Given the description of an element on the screen output the (x, y) to click on. 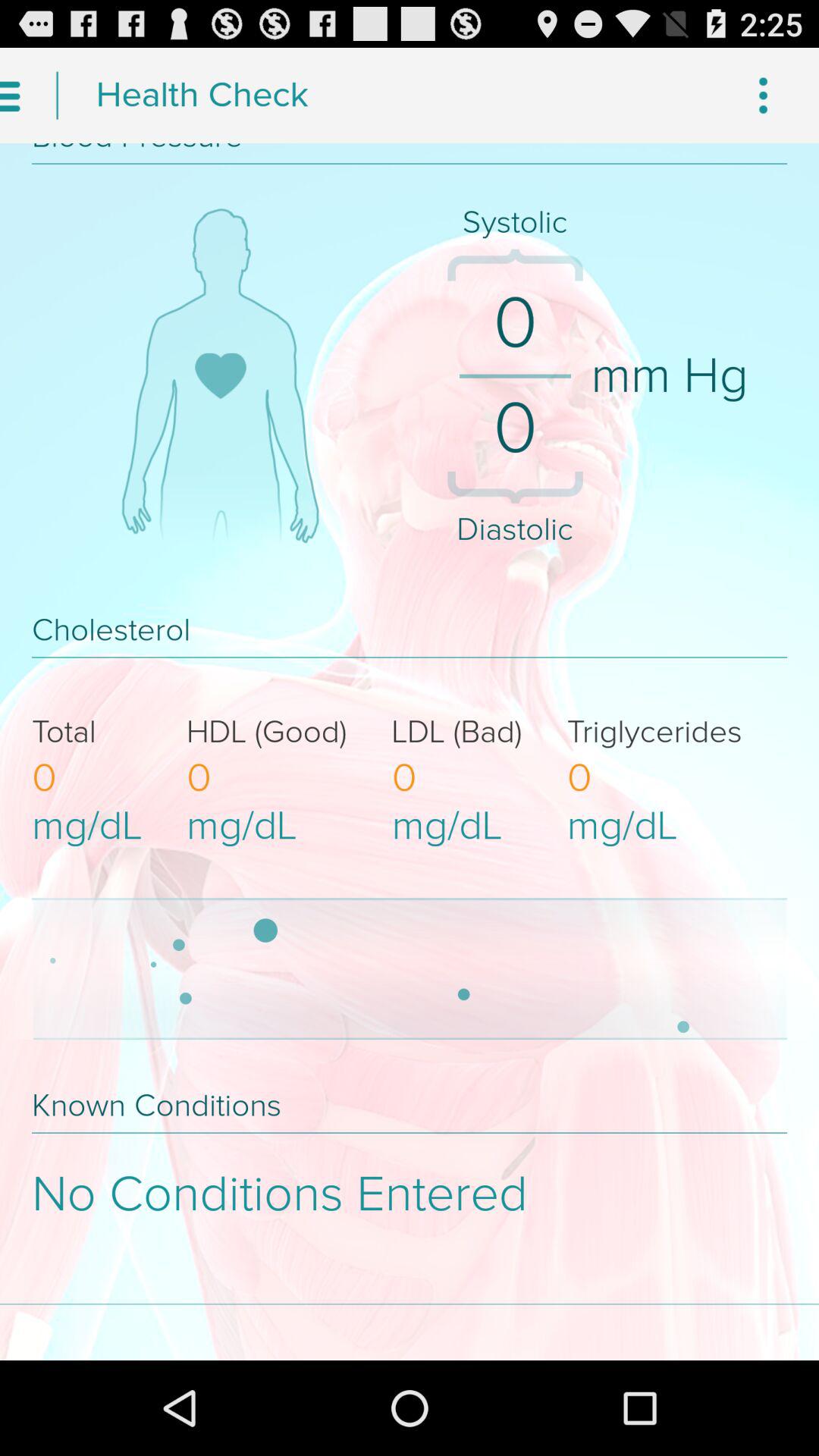
the horizontal line above systolic (409, 163)
select the like symbol present on human body (220, 375)
